Given the description of an element on the screen output the (x, y) to click on. 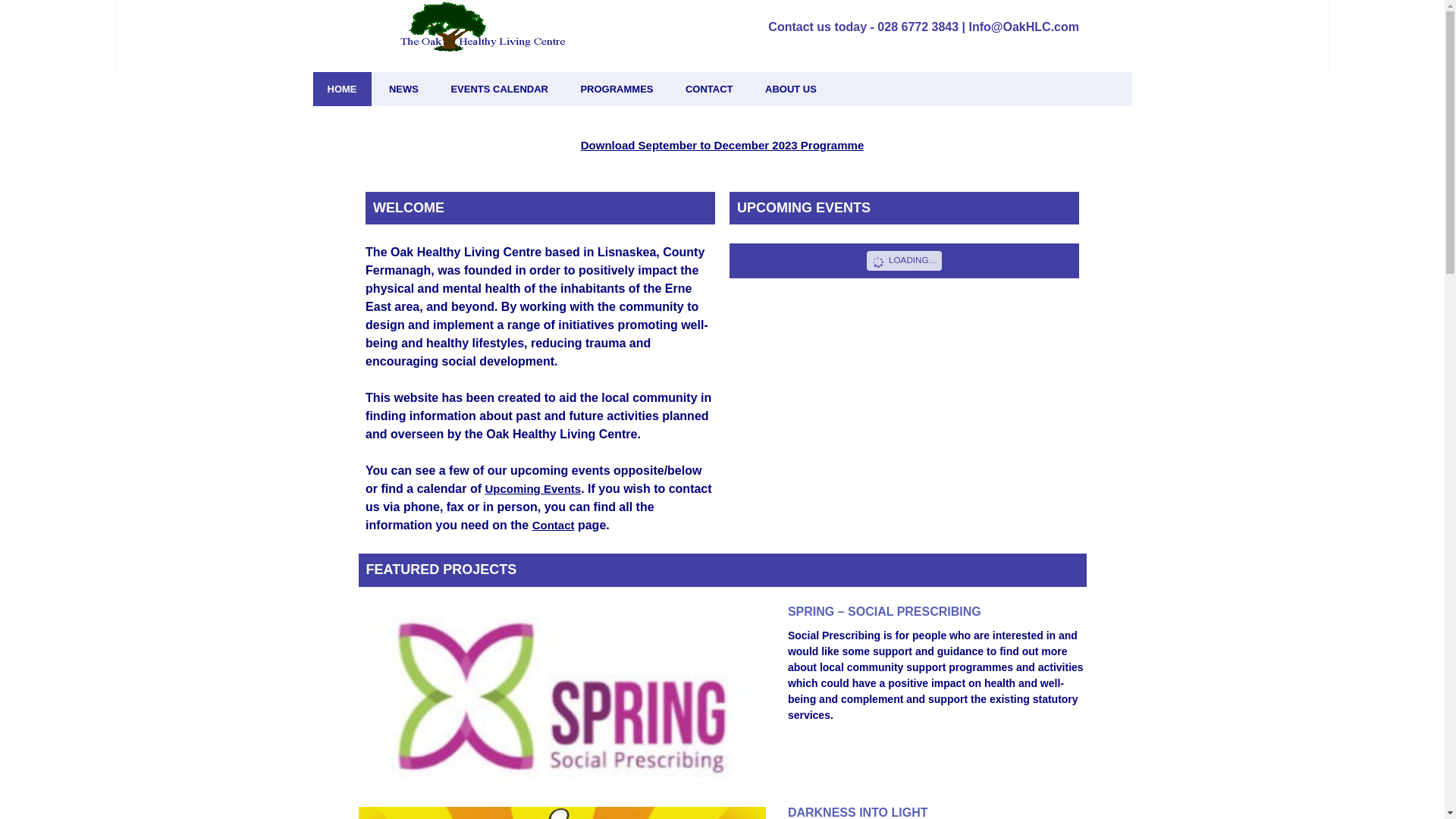
NEWS (403, 89)
PROGRAMMES (616, 89)
HOME (342, 89)
EVENTS CALENDAR (498, 89)
028 6772 3843 (917, 26)
CO-DEPENDENTS ANONYMOUS (641, 127)
